Given the description of an element on the screen output the (x, y) to click on. 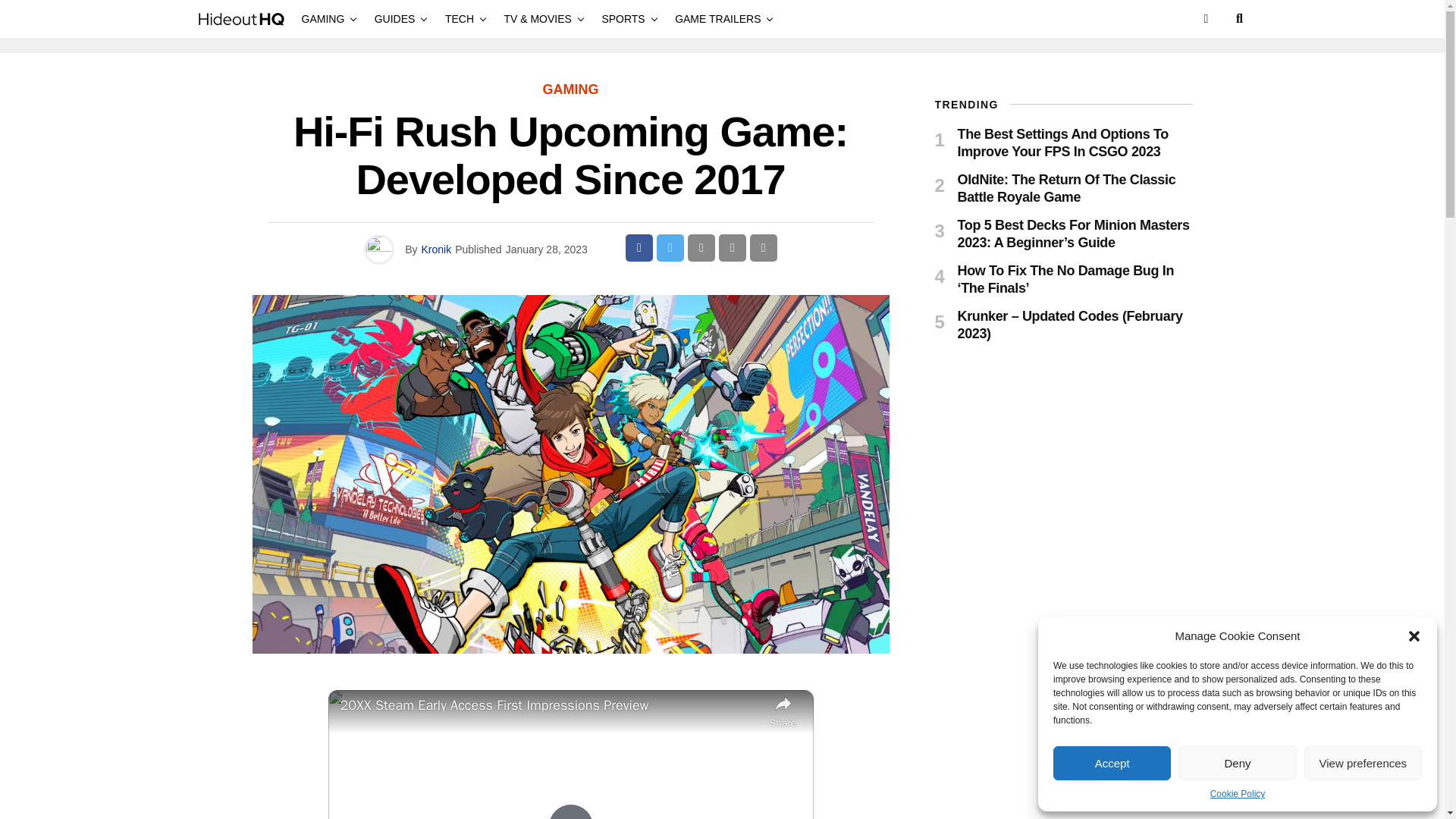
Tweet This Post (670, 247)
Share on Facebook (639, 247)
Deny (1236, 763)
TECH (459, 18)
Cookie Policy (1237, 793)
Posts by Kronik (435, 249)
Accept (1111, 763)
GUIDES (394, 18)
GAMING (326, 18)
View preferences (1363, 763)
Play Video (569, 811)
